Given the description of an element on the screen output the (x, y) to click on. 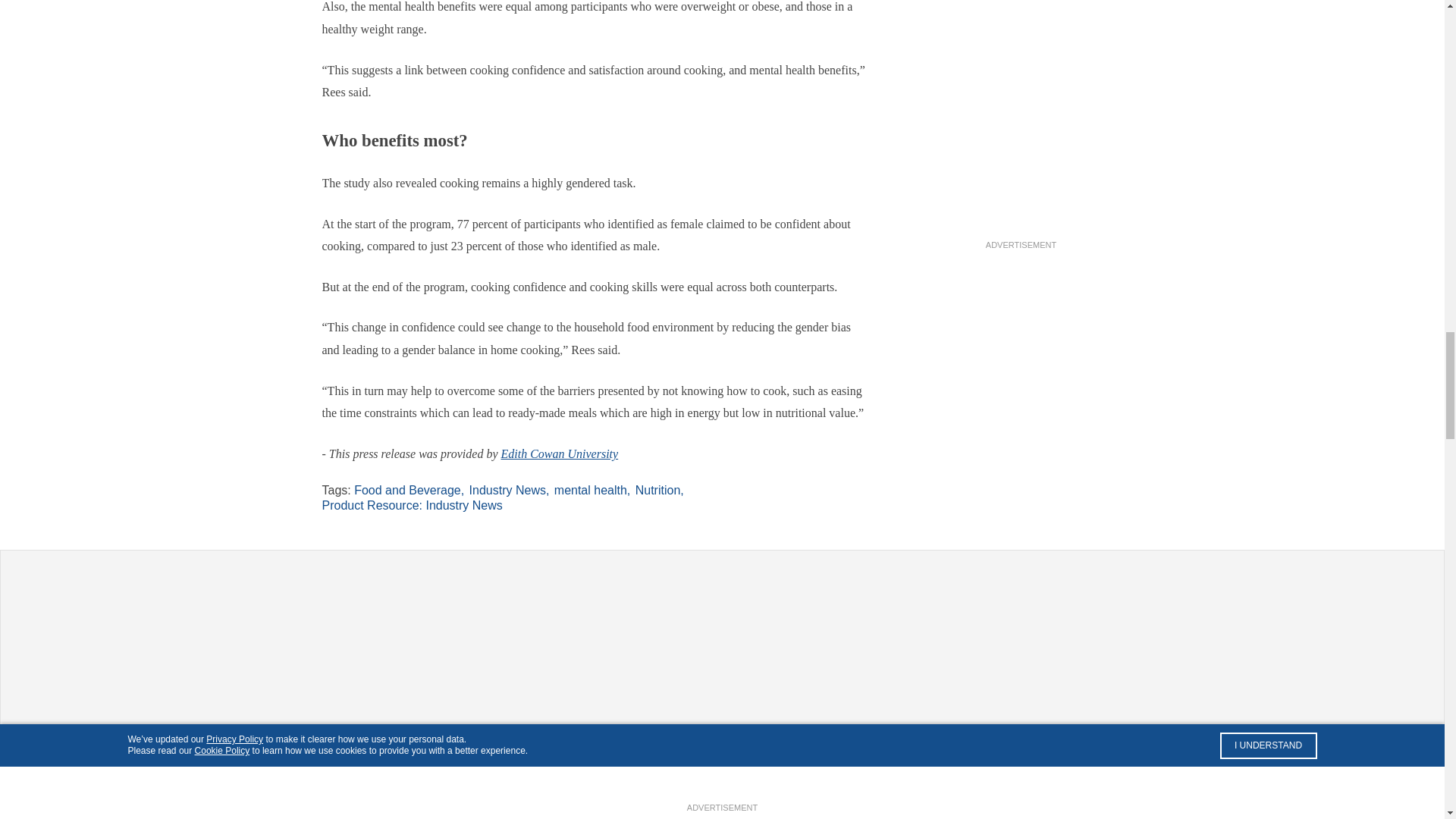
3rd party ad content (1020, 79)
